Given the description of an element on the screen output the (x, y) to click on. 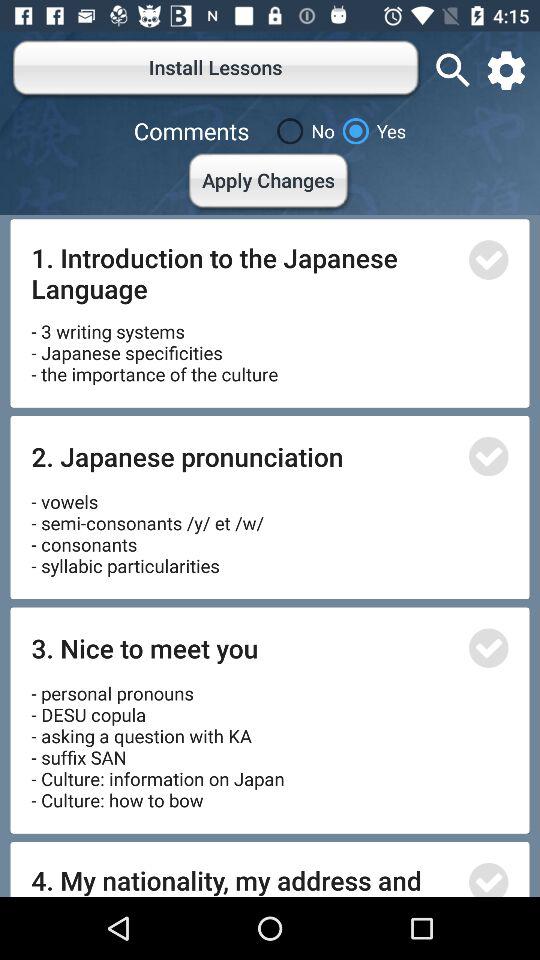
select icon above apply changes (301, 131)
